Given the description of an element on the screen output the (x, y) to click on. 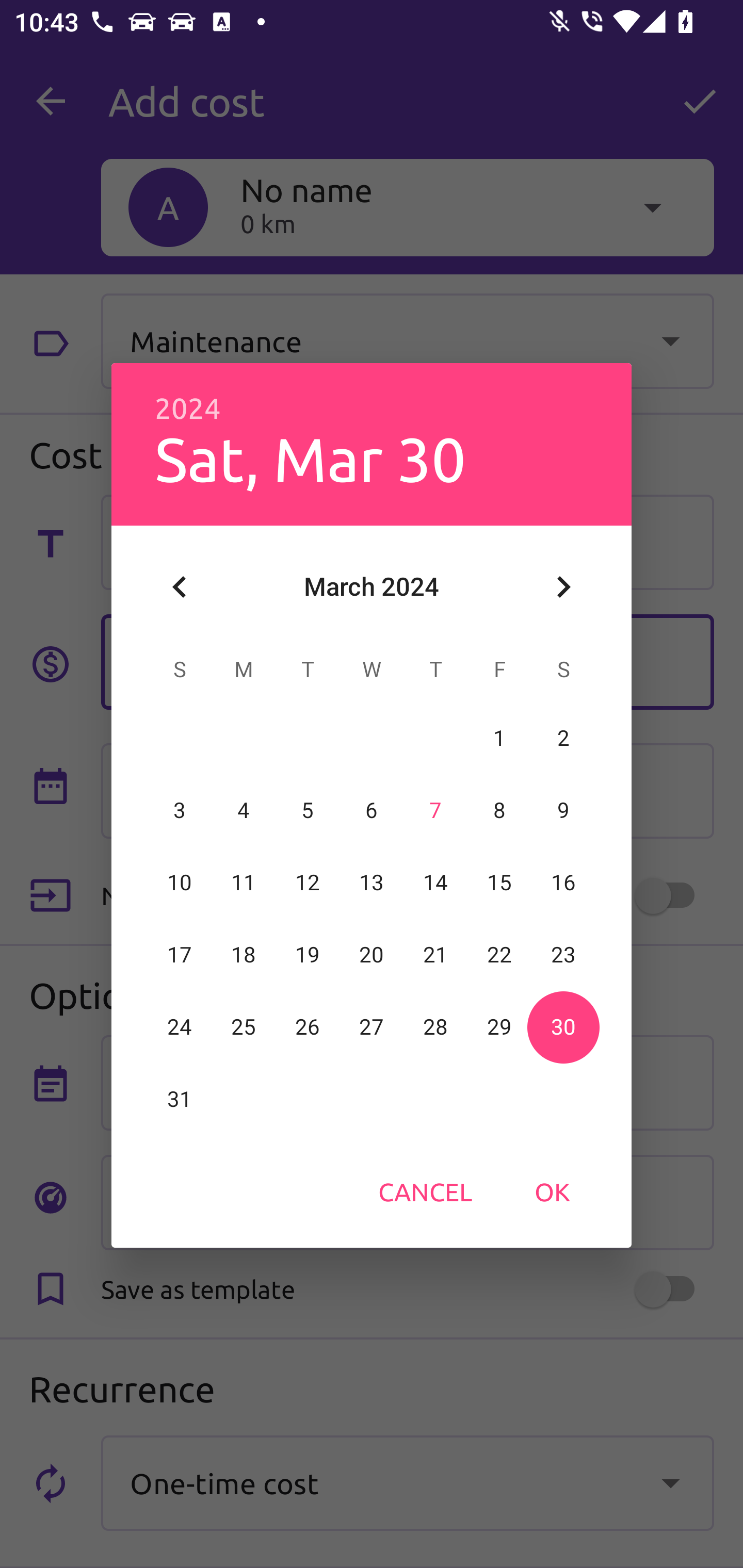
2024 (187, 408)
Sat, Mar 30 (310, 458)
Previous month (178, 587)
Next month (563, 587)
1 01 March 2024 (499, 738)
2 02 March 2024 (563, 738)
3 03 March 2024 (179, 810)
4 04 March 2024 (243, 810)
5 05 March 2024 (307, 810)
6 06 March 2024 (371, 810)
7 07 March 2024 (435, 810)
8 08 March 2024 (499, 810)
9 09 March 2024 (563, 810)
10 10 March 2024 (179, 882)
11 11 March 2024 (243, 882)
12 12 March 2024 (307, 882)
13 13 March 2024 (371, 882)
14 14 March 2024 (435, 882)
15 15 March 2024 (499, 882)
16 16 March 2024 (563, 882)
17 17 March 2024 (179, 954)
18 18 March 2024 (243, 954)
19 19 March 2024 (307, 954)
20 20 March 2024 (371, 954)
21 21 March 2024 (435, 954)
22 22 March 2024 (499, 954)
23 23 March 2024 (563, 954)
24 24 March 2024 (179, 1026)
25 25 March 2024 (243, 1026)
26 26 March 2024 (307, 1026)
27 27 March 2024 (371, 1026)
28 28 March 2024 (435, 1026)
29 29 March 2024 (499, 1026)
30 30 March 2024 (563, 1026)
31 31 March 2024 (179, 1099)
CANCEL (425, 1191)
OK (552, 1191)
